Given the description of an element on the screen output the (x, y) to click on. 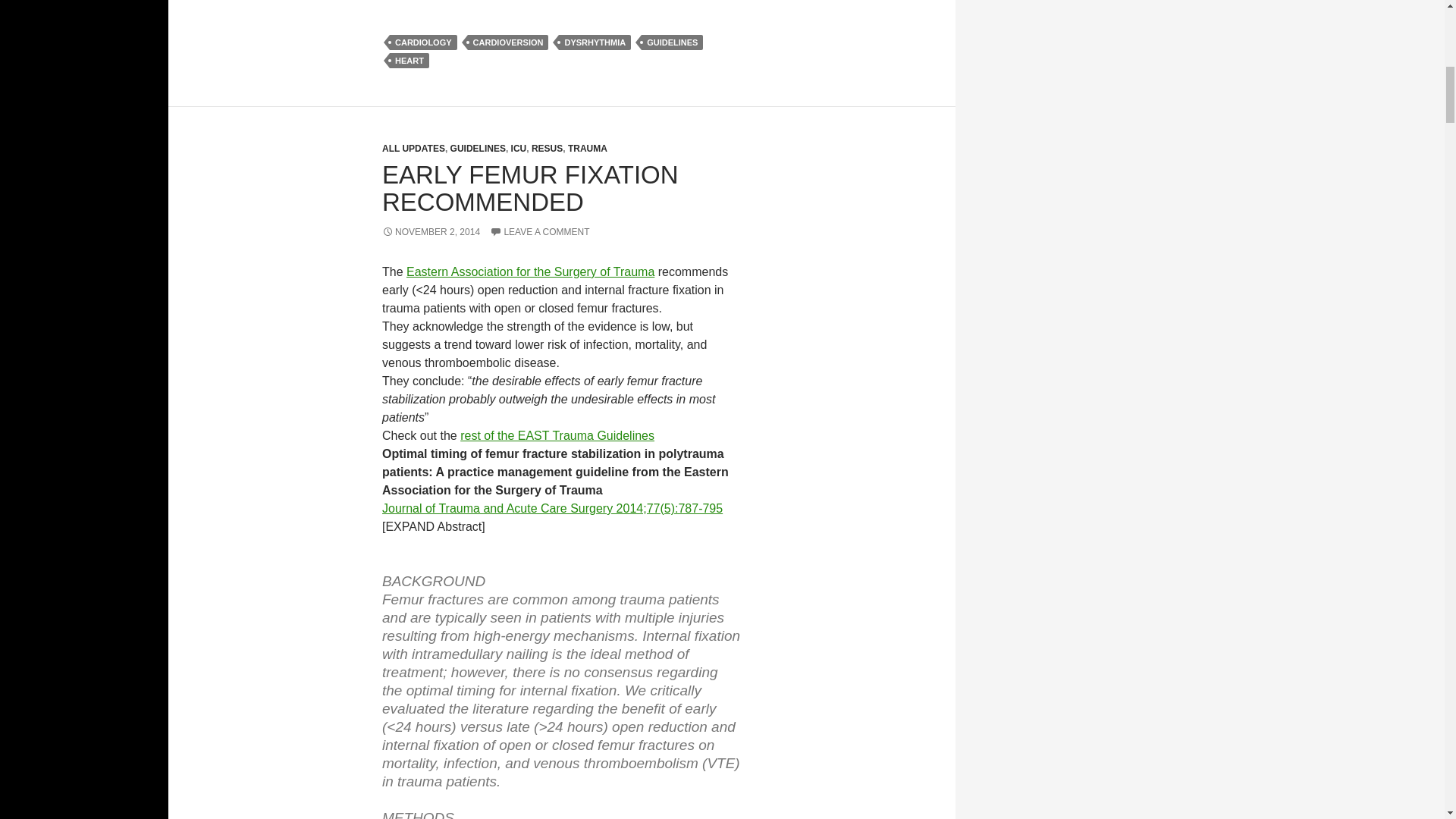
CARDIOVERSION (507, 42)
DYSRHYTHMIA (594, 42)
TRAUMA (587, 148)
NOVEMBER 2, 2014 (430, 231)
ICU (519, 148)
ALL UPDATES (413, 148)
CARDIOLOGY (423, 42)
EARLY FEMUR FIXATION RECOMMENDED (529, 188)
GUIDELINES (672, 42)
RESUS (546, 148)
GUIDELINES (477, 148)
HEART (409, 60)
